Given the description of an element on the screen output the (x, y) to click on. 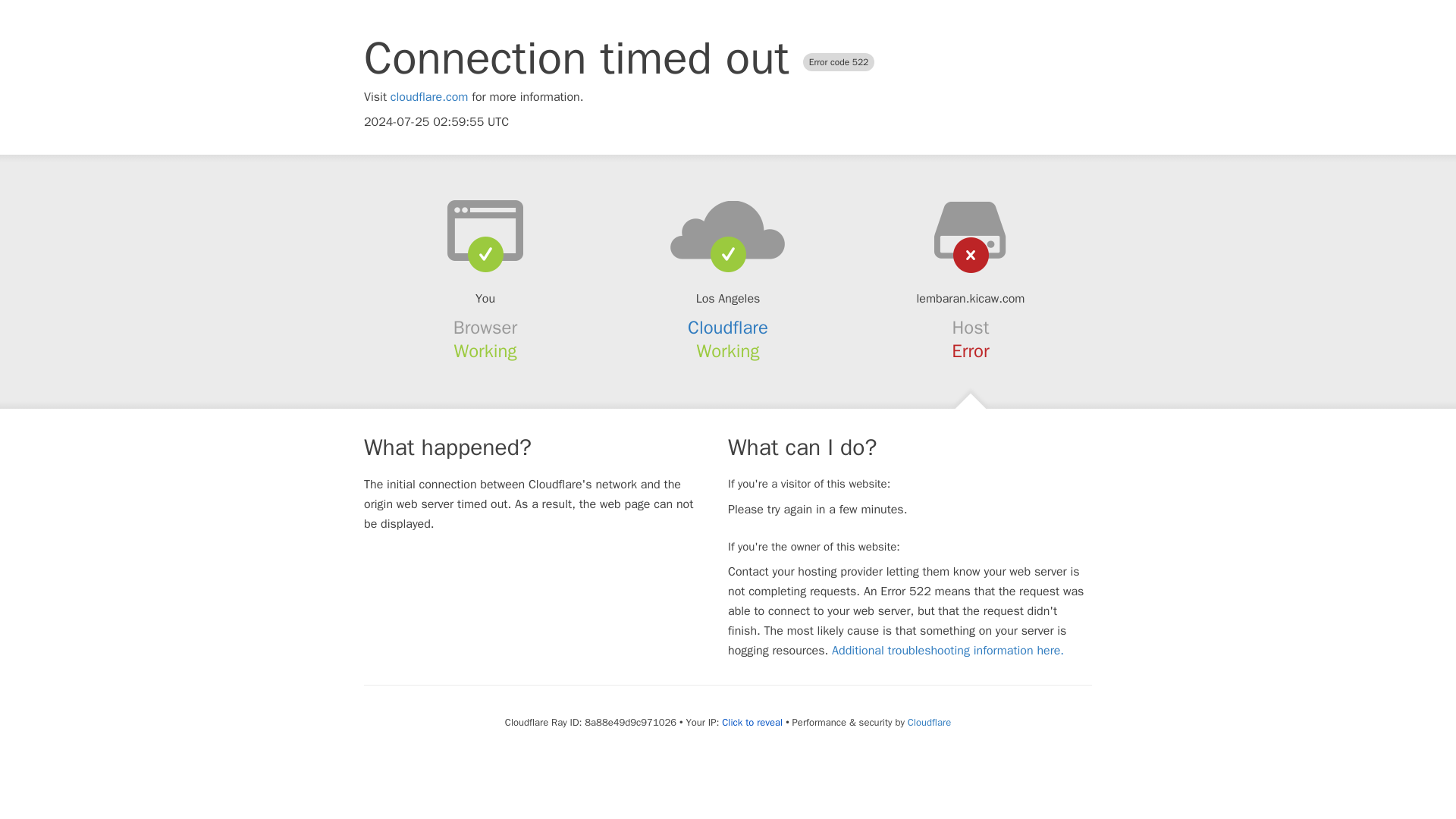
cloudflare.com (429, 96)
Additional troubleshooting information here. (947, 650)
Click to reveal (752, 722)
Cloudflare (928, 721)
Cloudflare (727, 327)
